Given the description of an element on the screen output the (x, y) to click on. 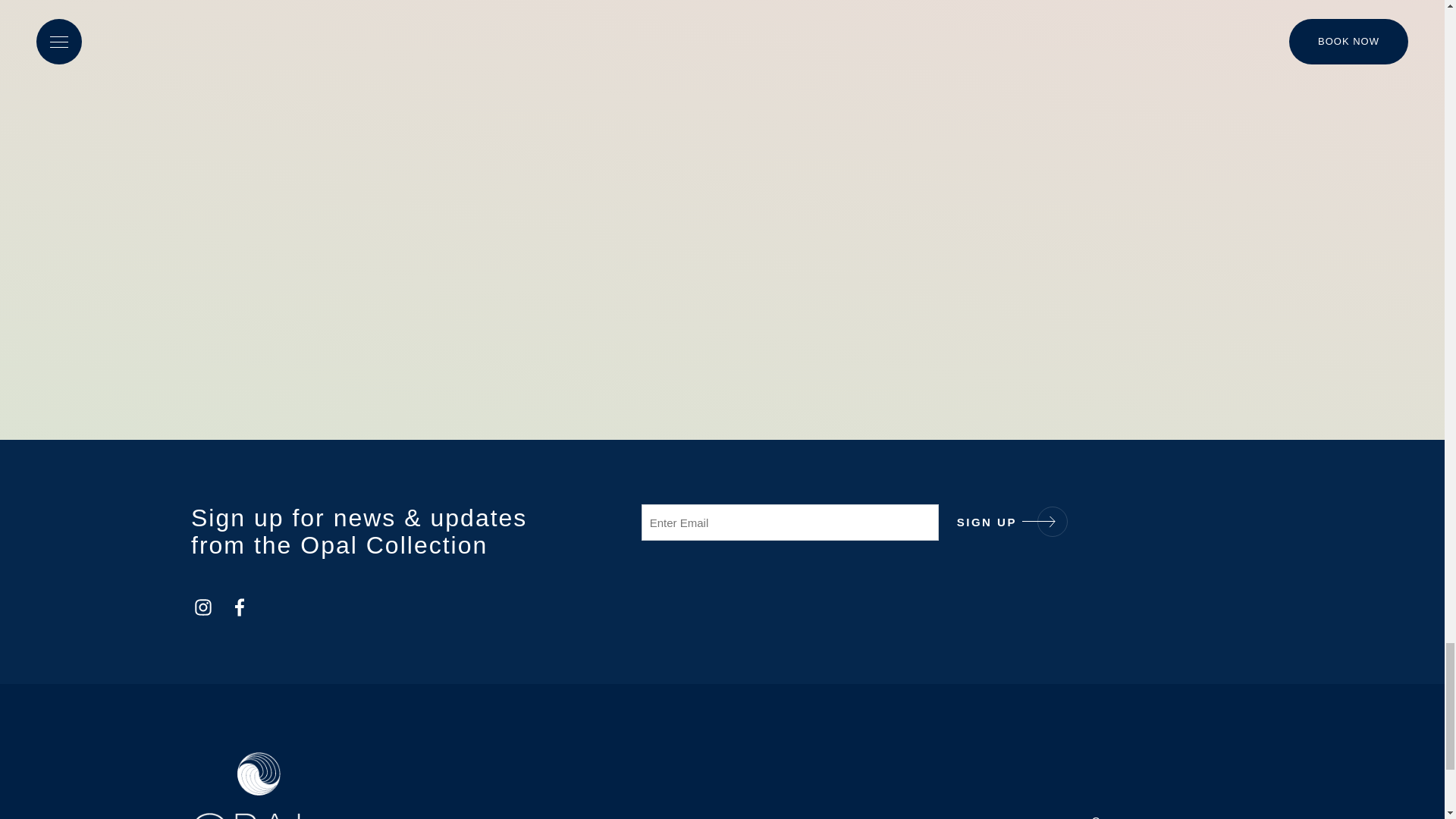
Find us on facebook (239, 607)
Find us on instagram (202, 607)
